Given the description of an element on the screen output the (x, y) to click on. 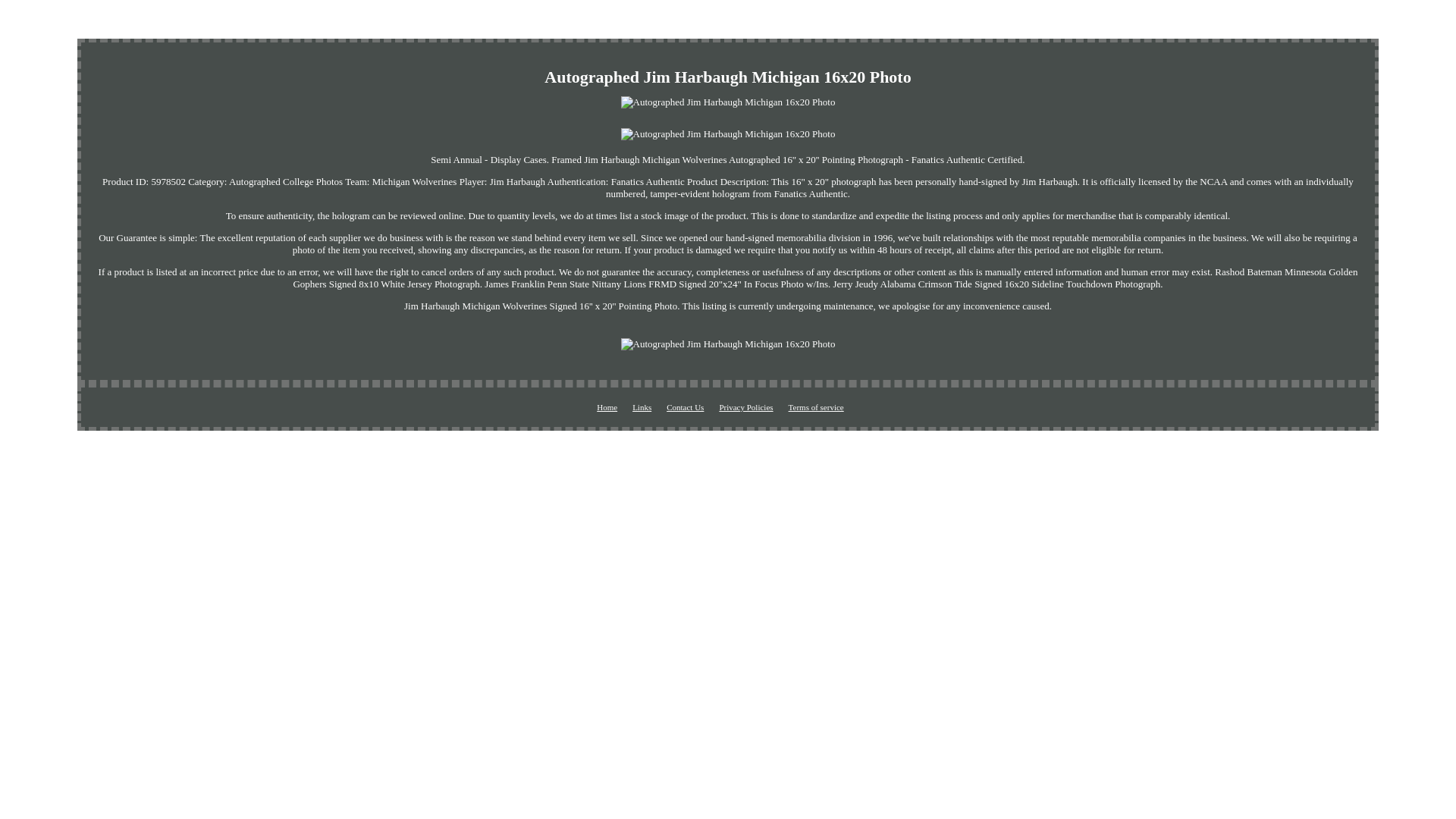
Autographed Jim Harbaugh Michigan 16x20 Photo (728, 133)
Autographed Jim Harbaugh Michigan 16x20 Photo (728, 102)
Autographed Jim Harbaugh Michigan 16x20 Photo (728, 344)
